Given the description of an element on the screen output the (x, y) to click on. 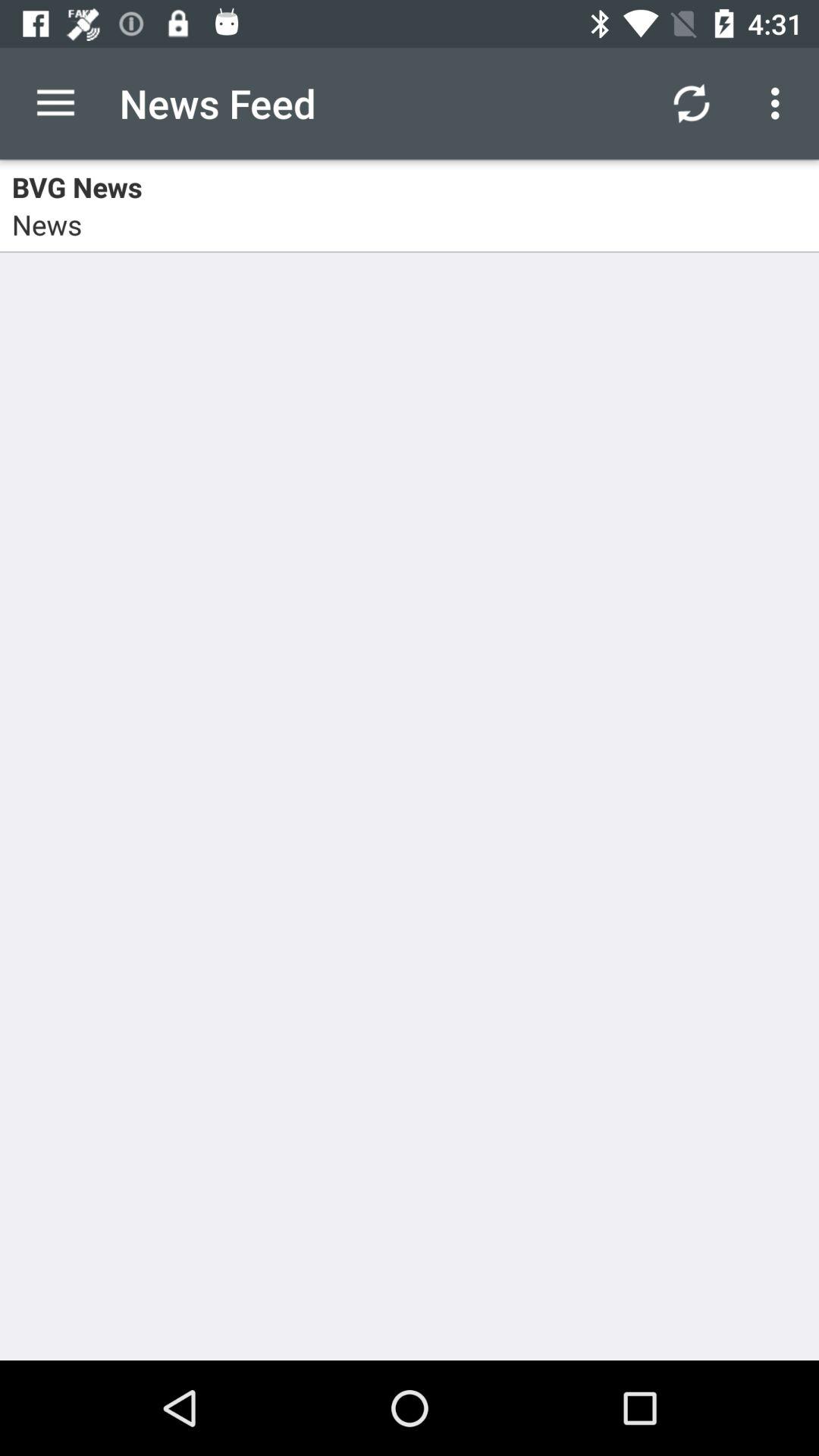
select icon to the right of the news feed (691, 103)
